Given the description of an element on the screen output the (x, y) to click on. 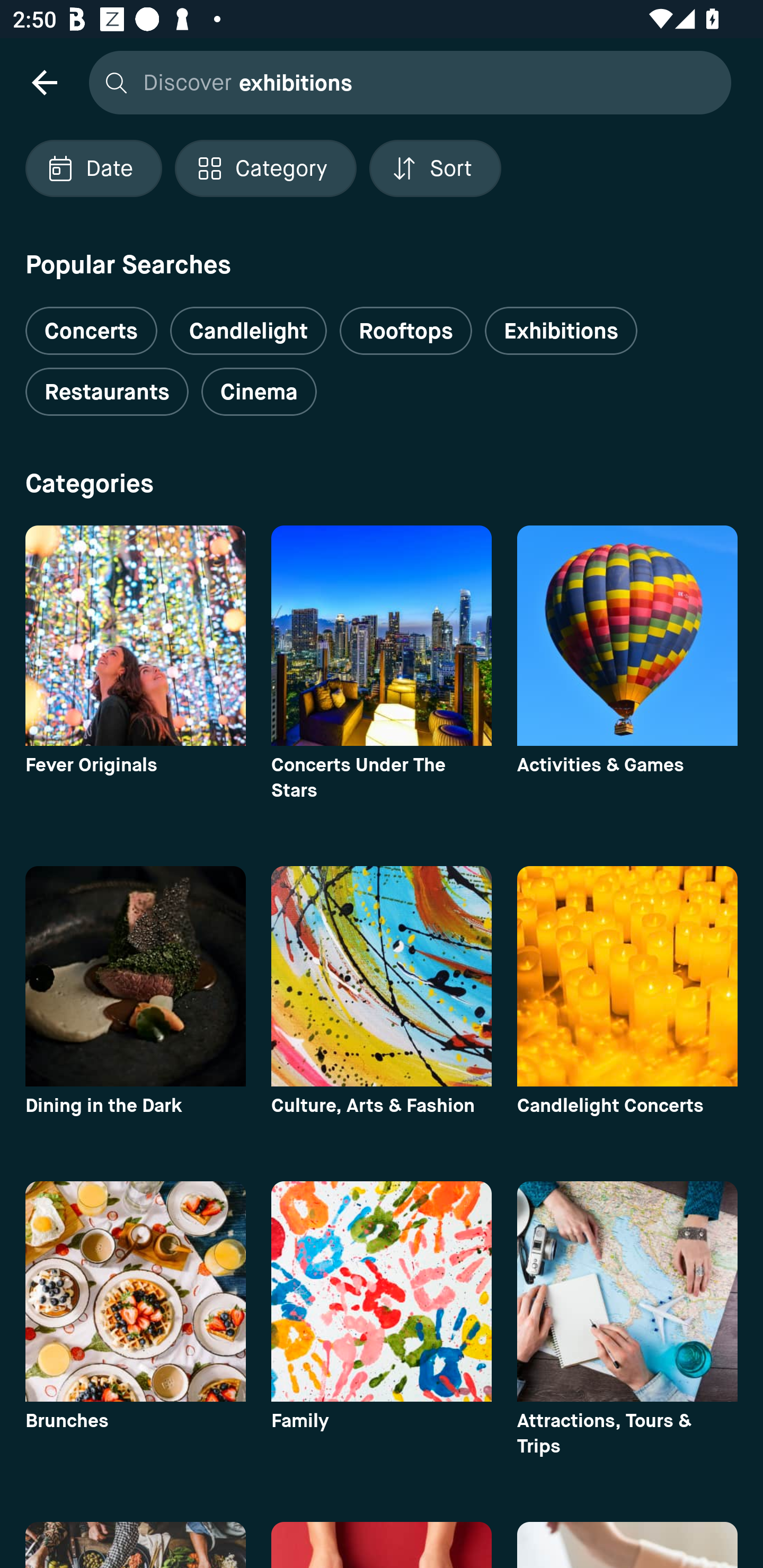
navigation icon (44, 81)
Discover exhibitions (405, 81)
Localized description Date (93, 168)
Localized description Category (265, 168)
Localized description Sort (435, 168)
Concerts (91, 323)
Candlelight (248, 330)
Rooftops (405, 330)
Exhibitions (560, 330)
Restaurants (106, 391)
Cinema (258, 391)
category image (135, 635)
category image (381, 635)
category image (627, 635)
category image (135, 975)
category image (381, 975)
category image (627, 975)
category image (135, 1290)
category image (381, 1290)
category image (627, 1290)
